Given the description of an element on the screen output the (x, y) to click on. 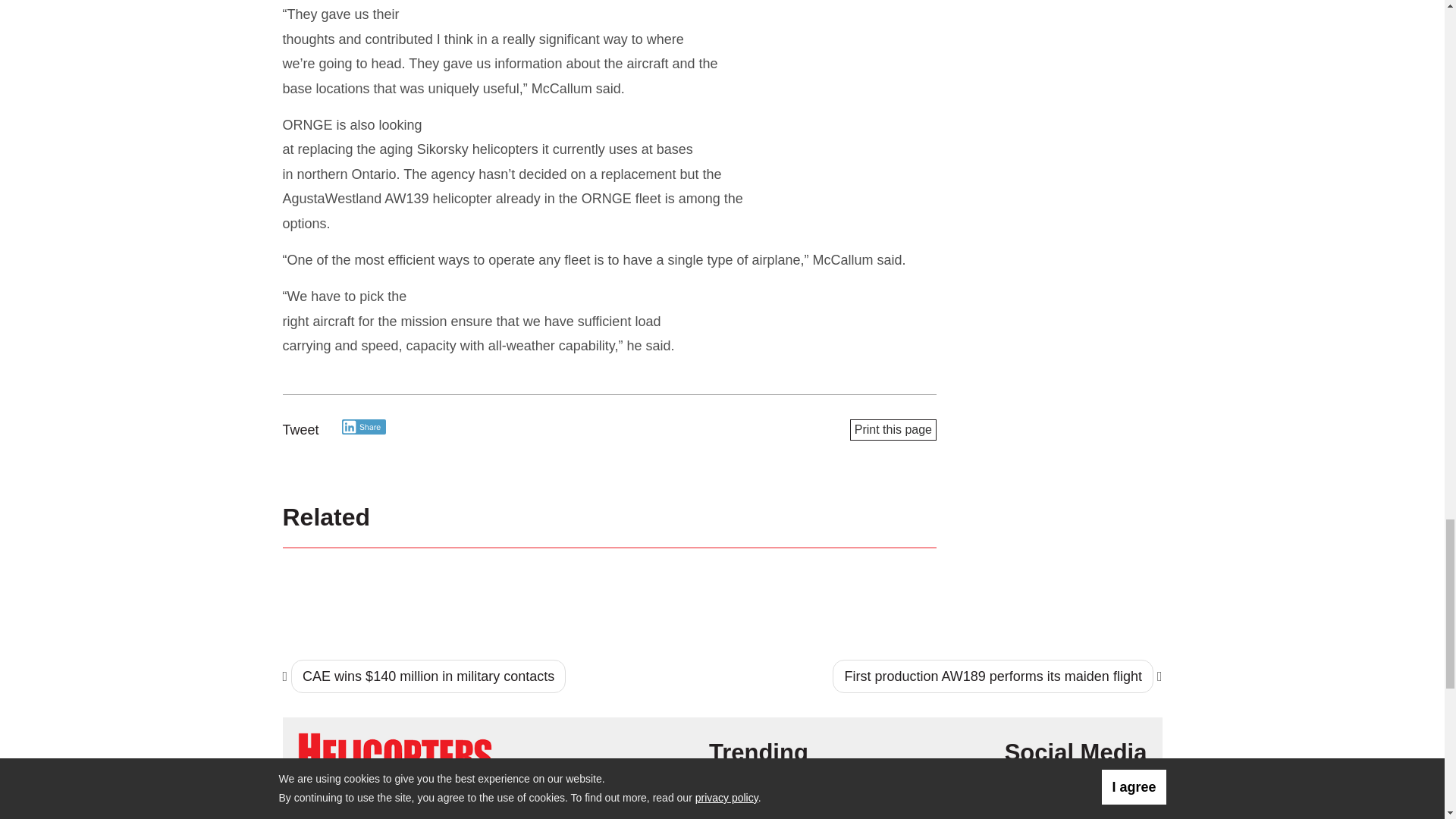
Helicopters Magazine (395, 752)
